Given the description of an element on the screen output the (x, y) to click on. 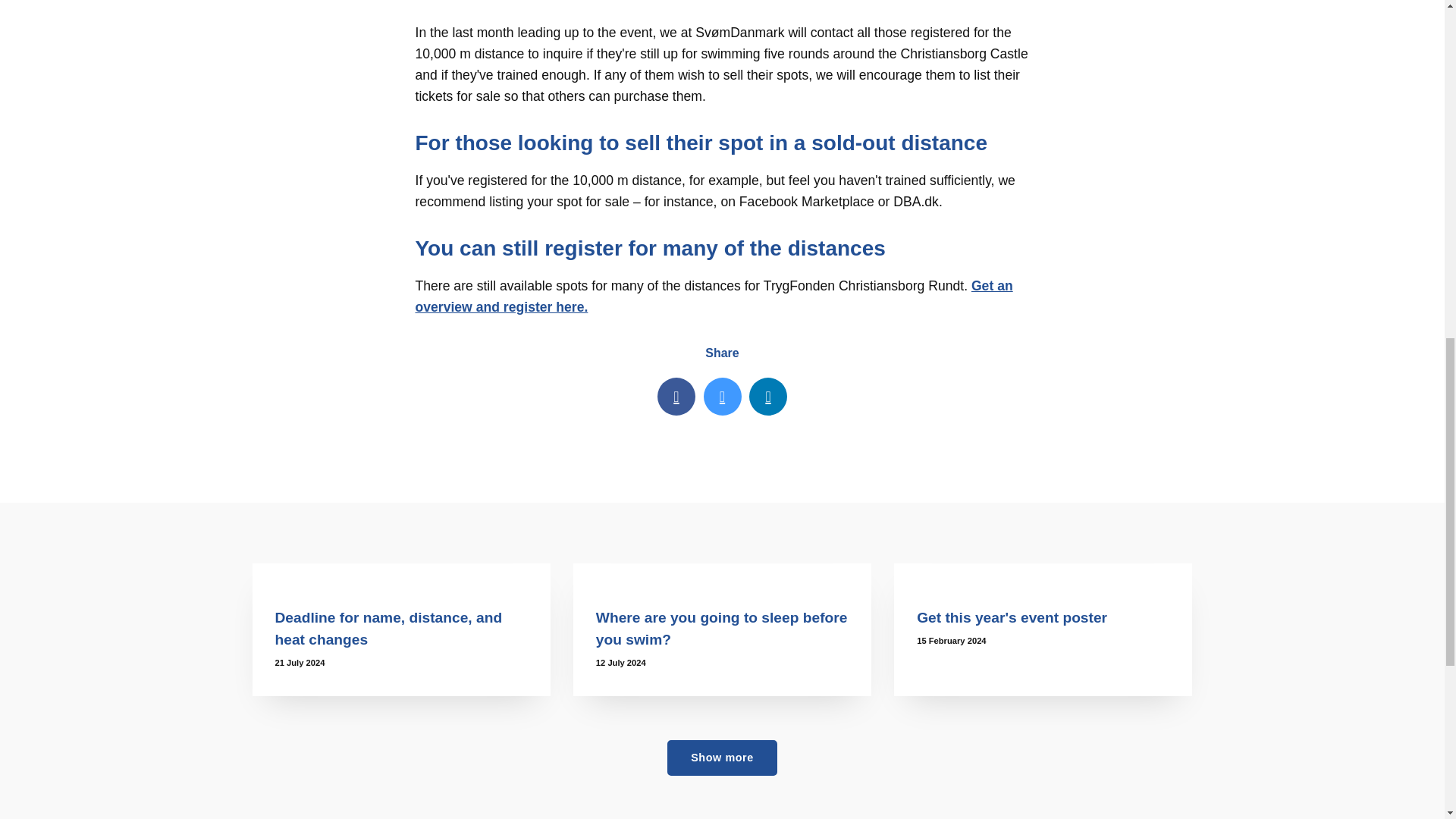
Where are you going to sleep before you swim? (721, 628)
Linked In (768, 396)
Facebook (676, 396)
Deadline for name, distance, and heat changes (400, 573)
Where are you going to sleep before you swim? (721, 573)
Twitter (722, 396)
Get this year's event poster (1011, 617)
Get an overview and register here. (713, 296)
Deadline for name, distance, and heat changes (388, 628)
Get this year's event poster (1042, 573)
